Given the description of an element on the screen output the (x, y) to click on. 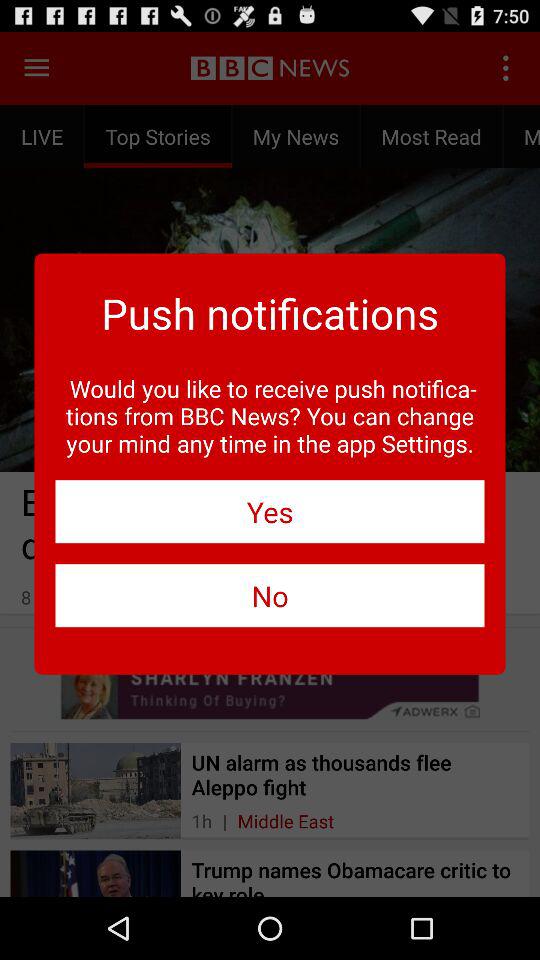
flip to yes icon (269, 511)
